Given the description of an element on the screen output the (x, y) to click on. 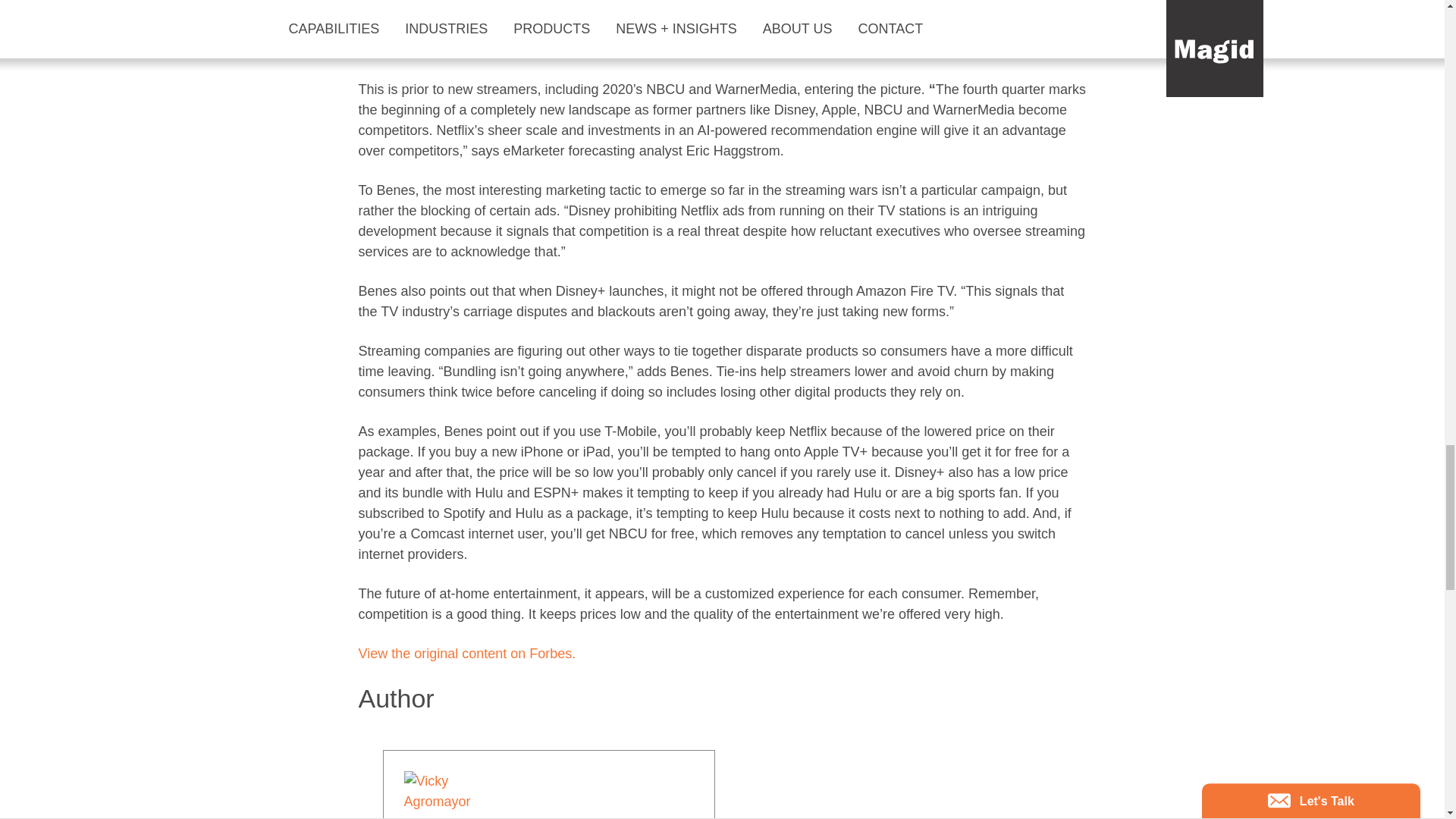
Vicky Agromayor (537, 814)
